Given the description of an element on the screen output the (x, y) to click on. 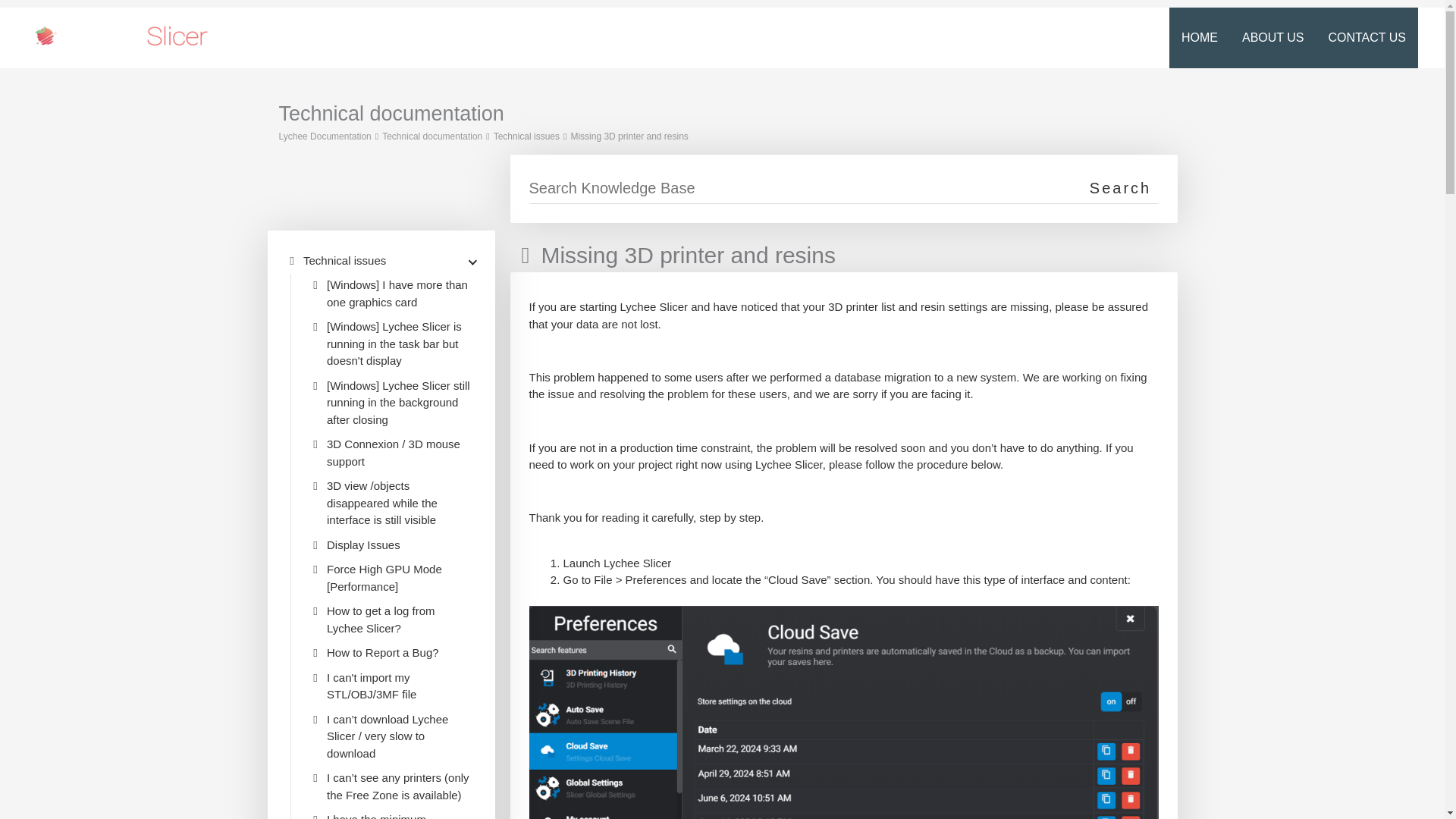
Technical issues (526, 135)
Display Issues (363, 545)
Search (1120, 187)
Missing 3D printer and resins (628, 135)
HOME (1199, 37)
How to get a log from Lychee Slicer? (398, 619)
Lychee Documentation (325, 135)
I have the minimum requirements but Lychee Slicer won't work (398, 815)
CONTACT US (1367, 37)
ABOUT US (1273, 37)
